Given the description of an element on the screen output the (x, y) to click on. 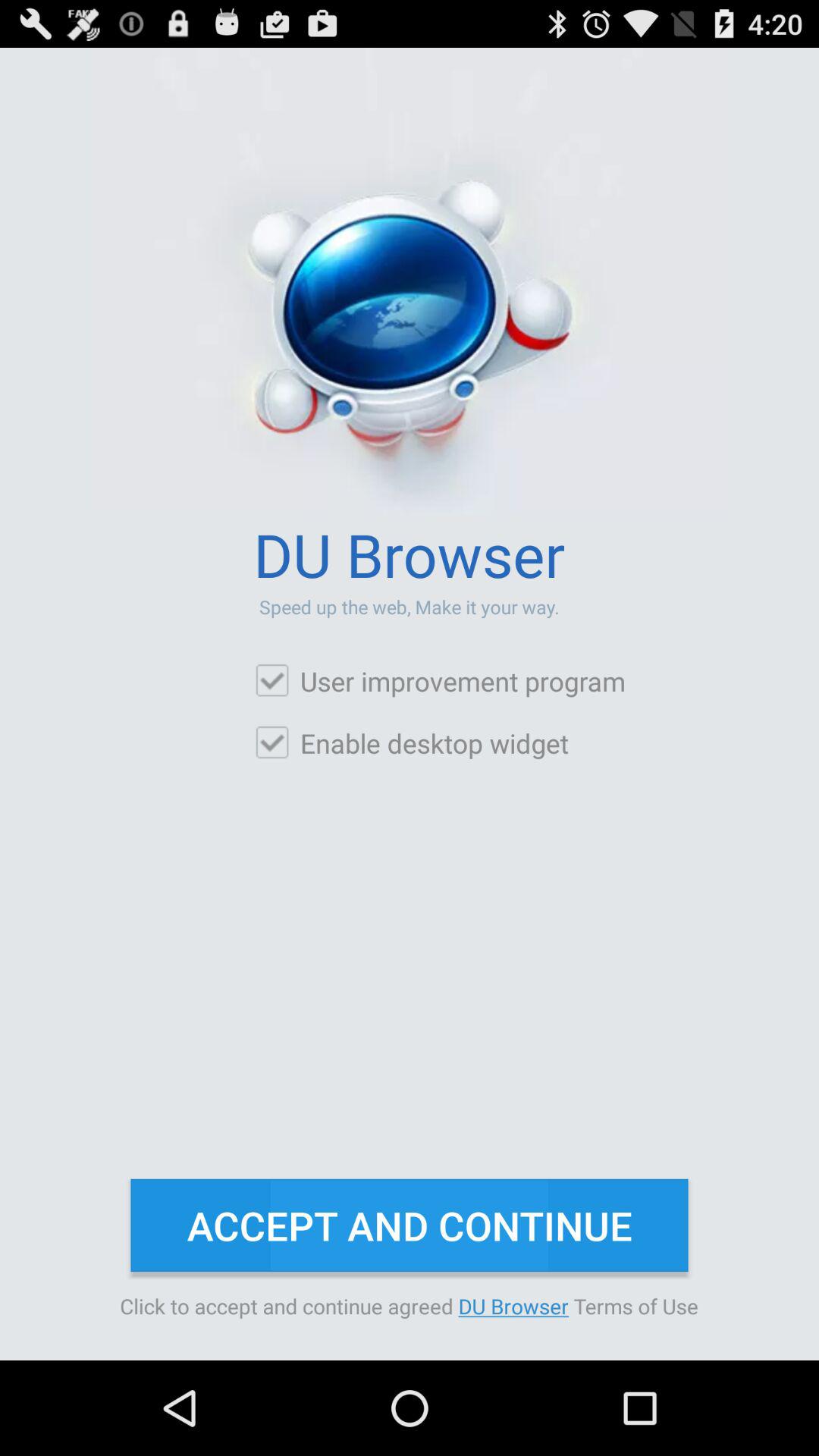
scroll to the user improvement program checkbox (439, 680)
